Given the description of an element on the screen output the (x, y) to click on. 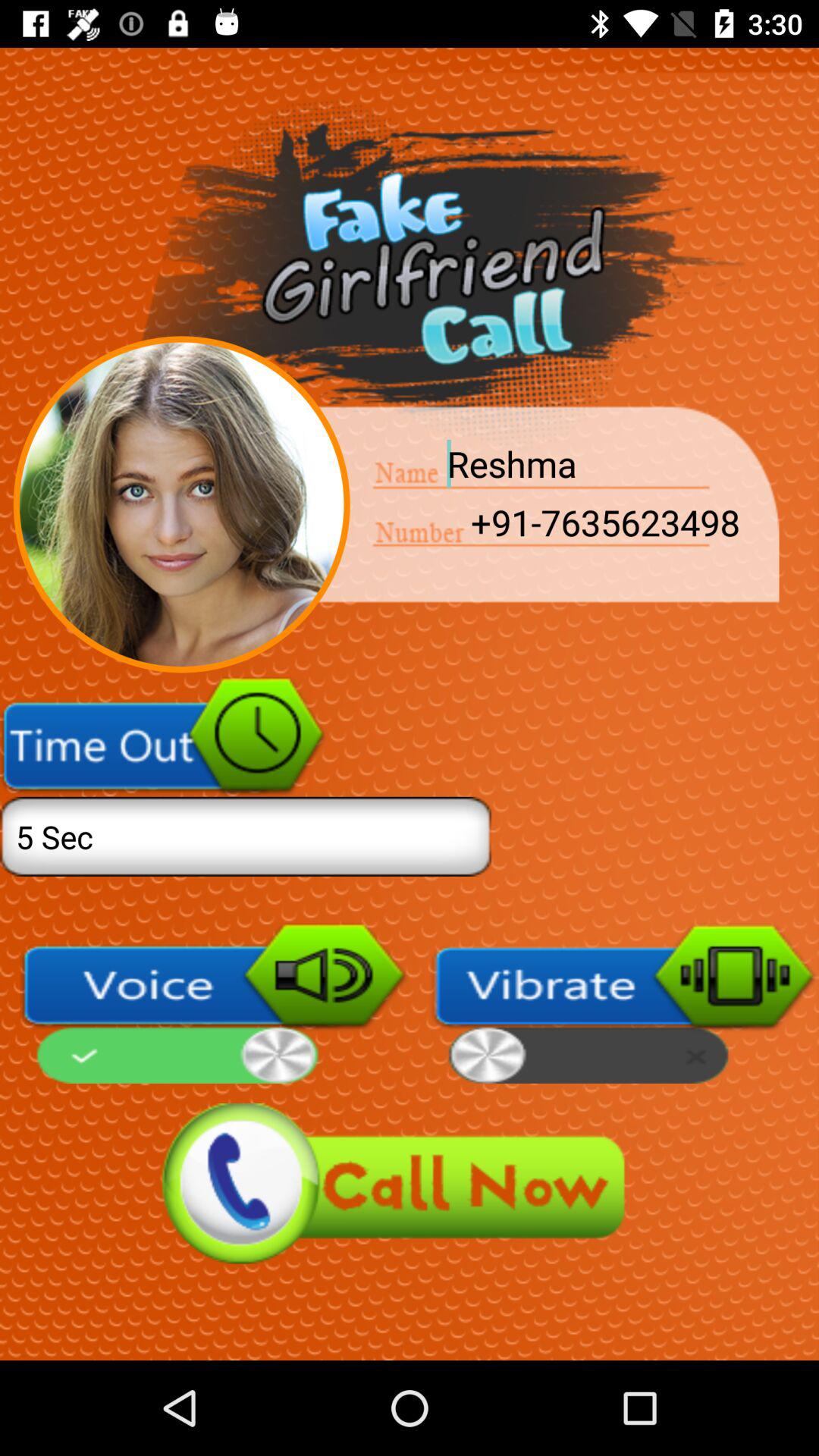
view profile picture (181, 504)
